Given the description of an element on the screen output the (x, y) to click on. 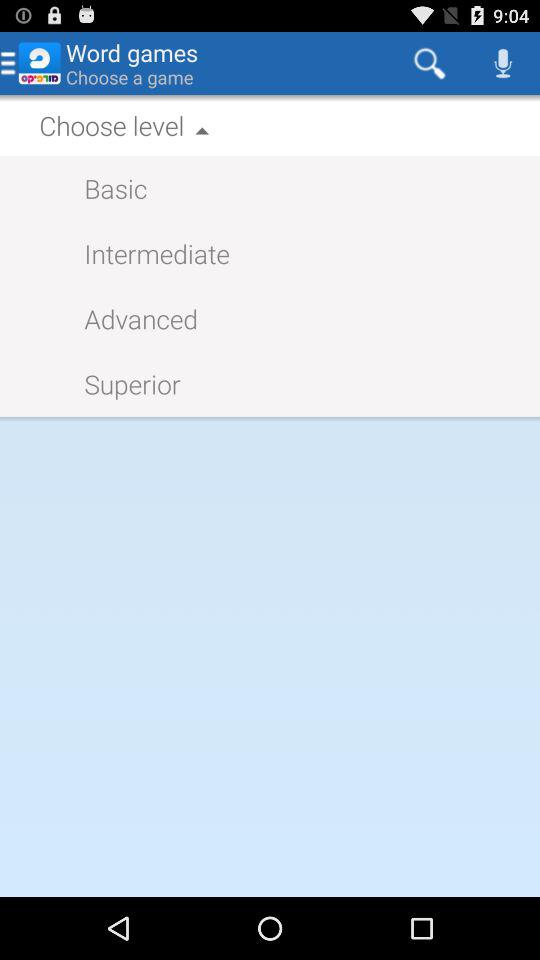
choose the icon above the superior (131, 318)
